Given the description of an element on the screen output the (x, y) to click on. 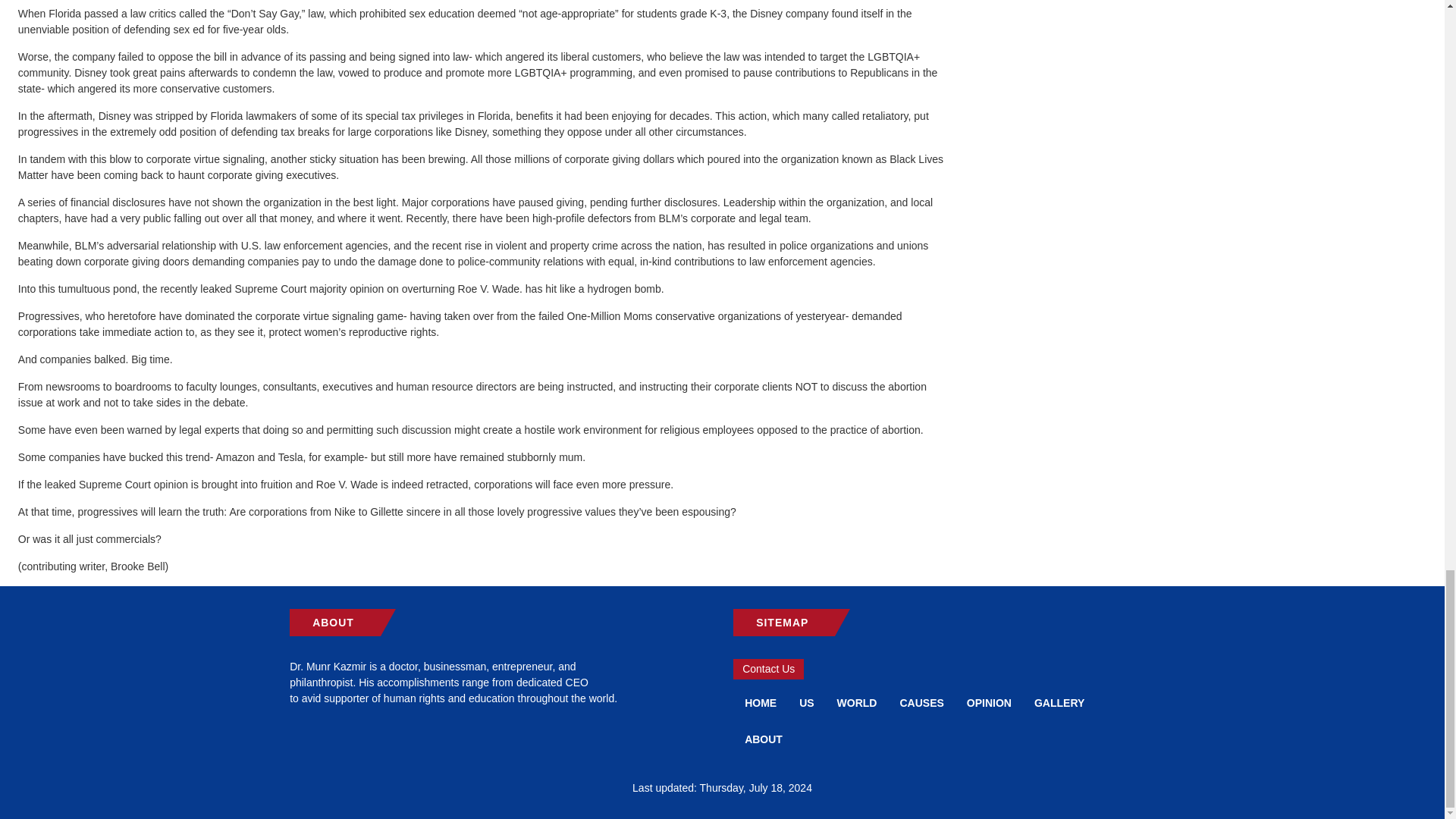
OPINION (989, 702)
US (806, 702)
HOME (760, 702)
Causes (921, 702)
GALLERY (1059, 702)
World (856, 702)
Contact Us (768, 669)
CAUSES (921, 702)
Contact Us (768, 669)
Gallery (1059, 702)
Opinion (989, 702)
WORLD (856, 702)
US (806, 702)
About (763, 739)
